Given the description of an element on the screen output the (x, y) to click on. 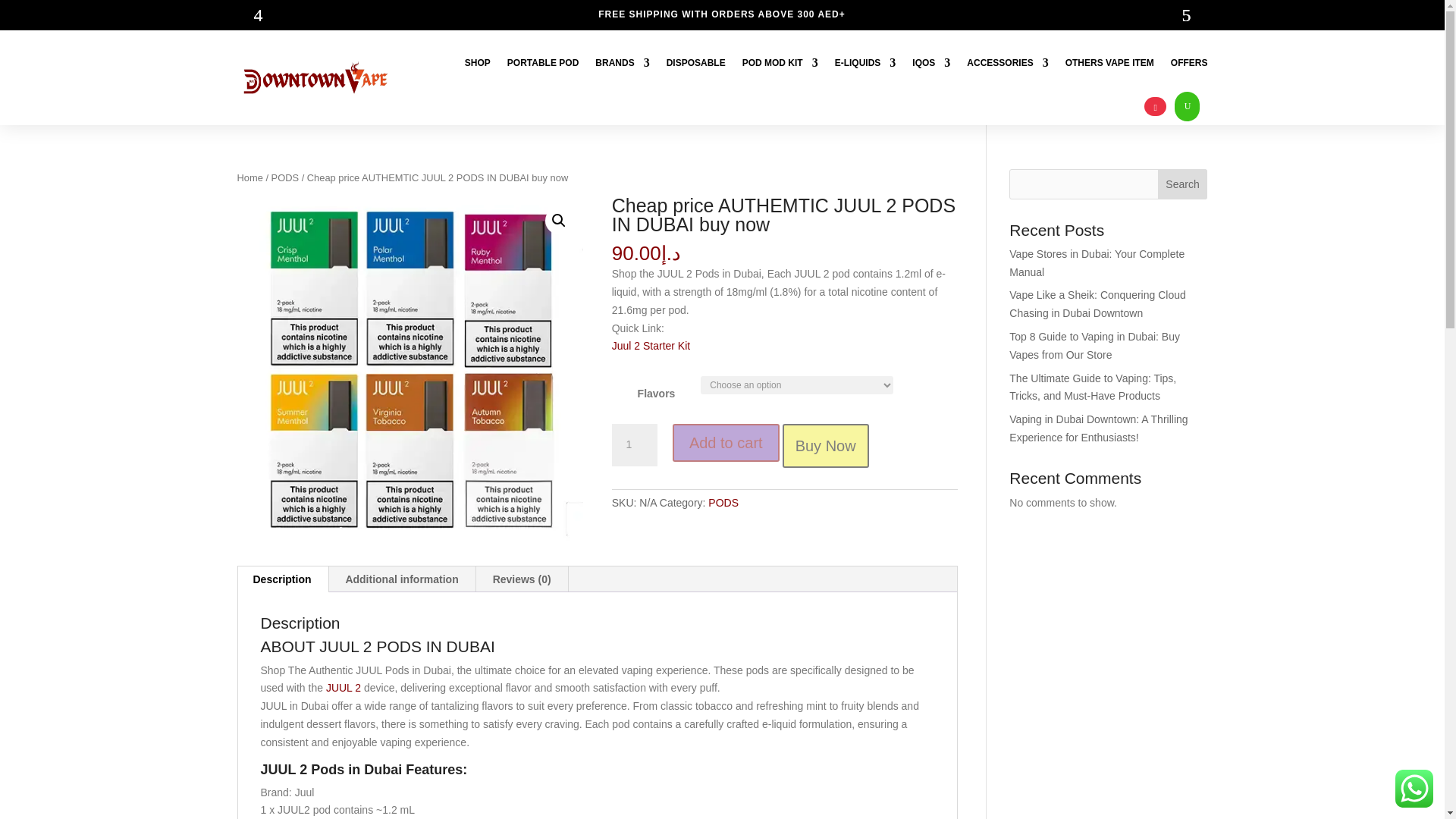
DISPOSABLE (695, 62)
1 (634, 445)
BRANDS (622, 62)
PORTABLE POD (542, 62)
POD MOD KIT (780, 62)
Juul-2-Pods-In-Dubai.webp (408, 369)
OTHERS VAPE ITEM (1109, 62)
ACCESSORIES (1007, 62)
E-LIQUIDS (865, 62)
